Given the description of an element on the screen output the (x, y) to click on. 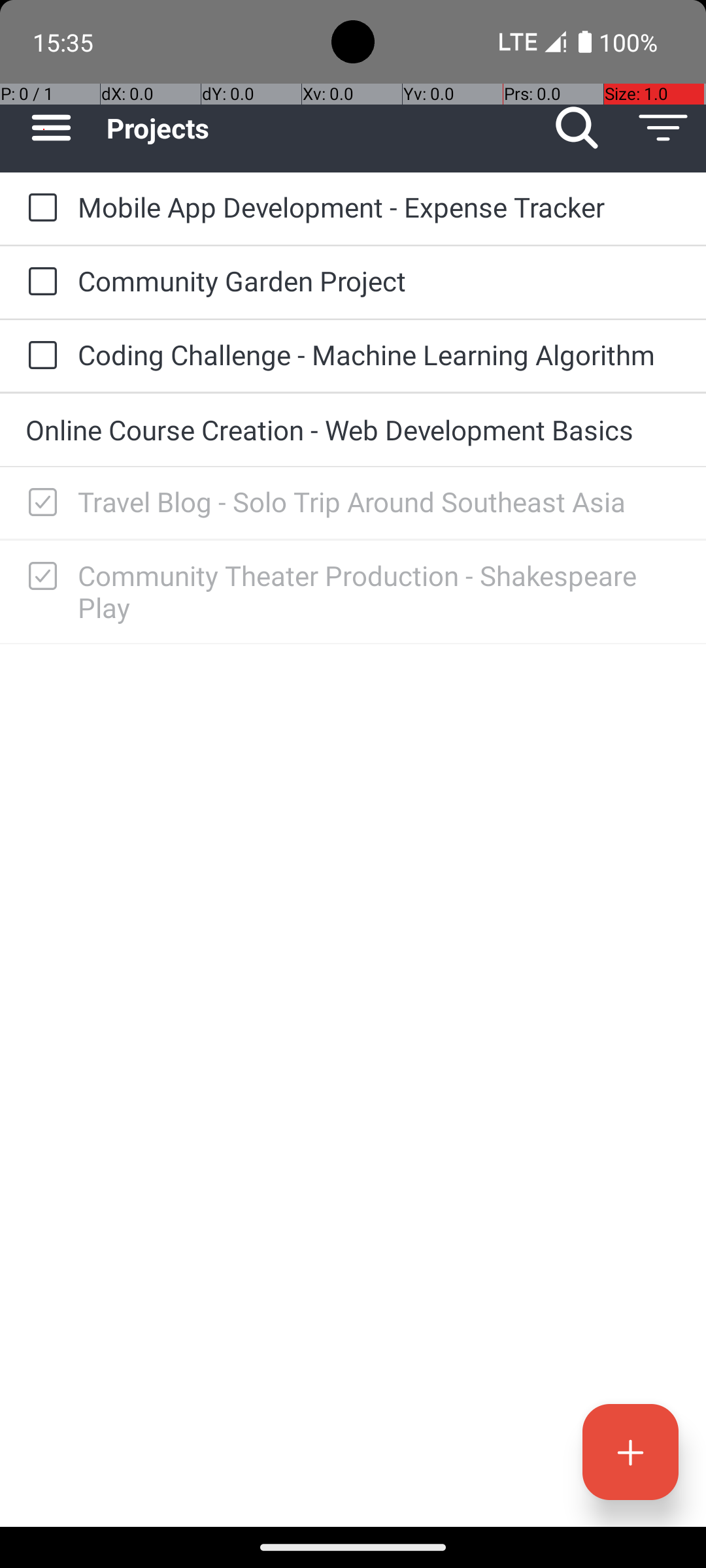
to-do: Mobile App Development - Expense Tracker Element type: android.widget.CheckBox (38, 208)
Mobile App Development - Expense Tracker Element type: android.widget.TextView (378, 206)
to-do: Community Garden Project Element type: android.widget.CheckBox (38, 282)
to-do: Coding Challenge - Machine Learning Algorithm Element type: android.widget.CheckBox (38, 356)
to-do: Travel Blog - Solo Trip Around Southeast Asia Element type: android.widget.CheckBox (38, 503)
Travel Blog - Solo Trip Around Southeast Asia Element type: android.widget.TextView (378, 501)
to-do: Community Theater Production - Shakespeare Play Element type: android.widget.CheckBox (38, 576)
Community Theater Production - Shakespeare Play Element type: android.widget.TextView (378, 590)
